Given the description of an element on the screen output the (x, y) to click on. 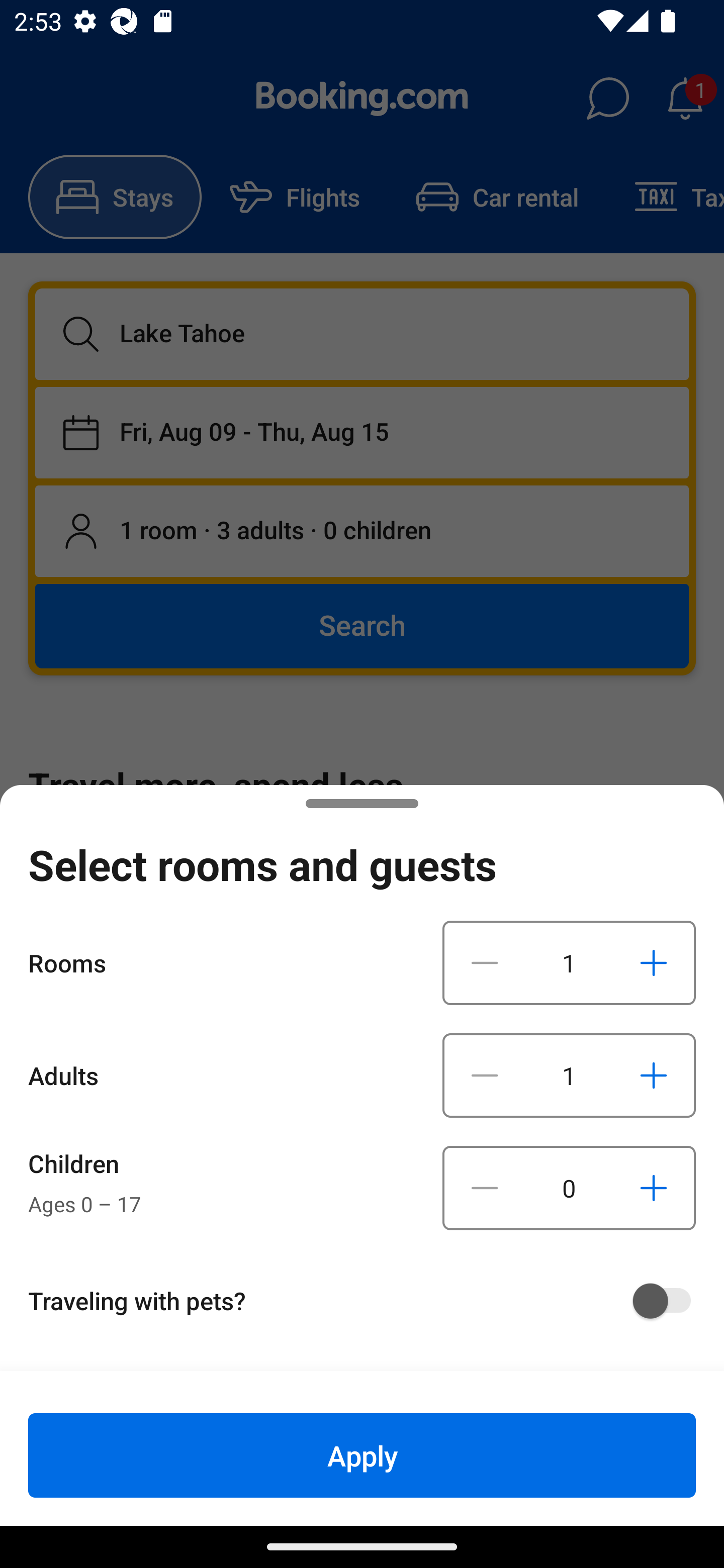
Decrease (484, 962)
Increase (653, 962)
Decrease (484, 1075)
Increase (653, 1075)
Decrease (484, 1188)
Increase (653, 1188)
Traveling with pets? (369, 1300)
Apply (361, 1454)
